Given the description of an element on the screen output the (x, y) to click on. 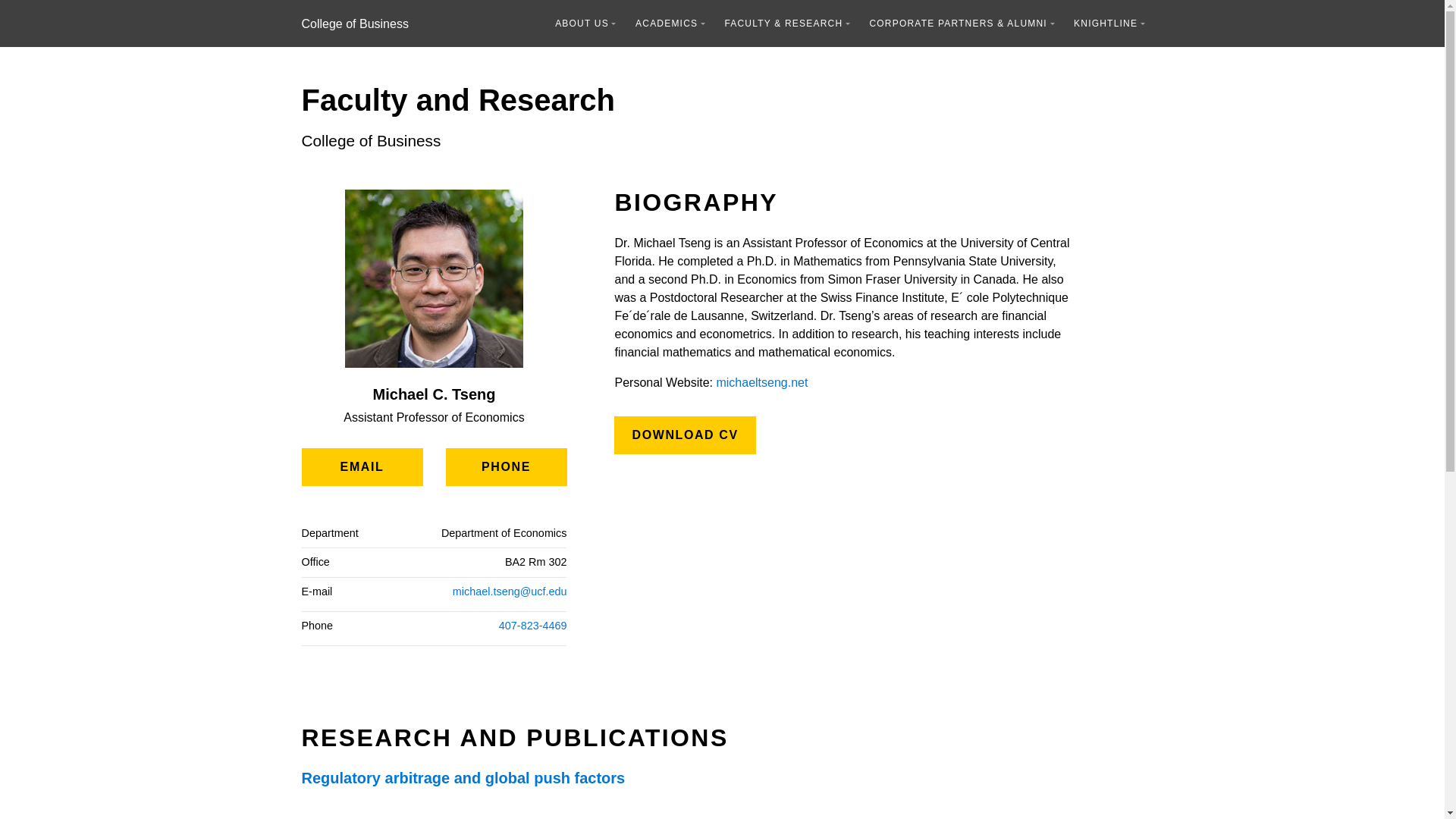
EMAIL (362, 466)
ACADEMICS (670, 23)
College of Business (355, 23)
ABOUT US (585, 23)
KNIGHTLINE (1109, 23)
